Given the description of an element on the screen output the (x, y) to click on. 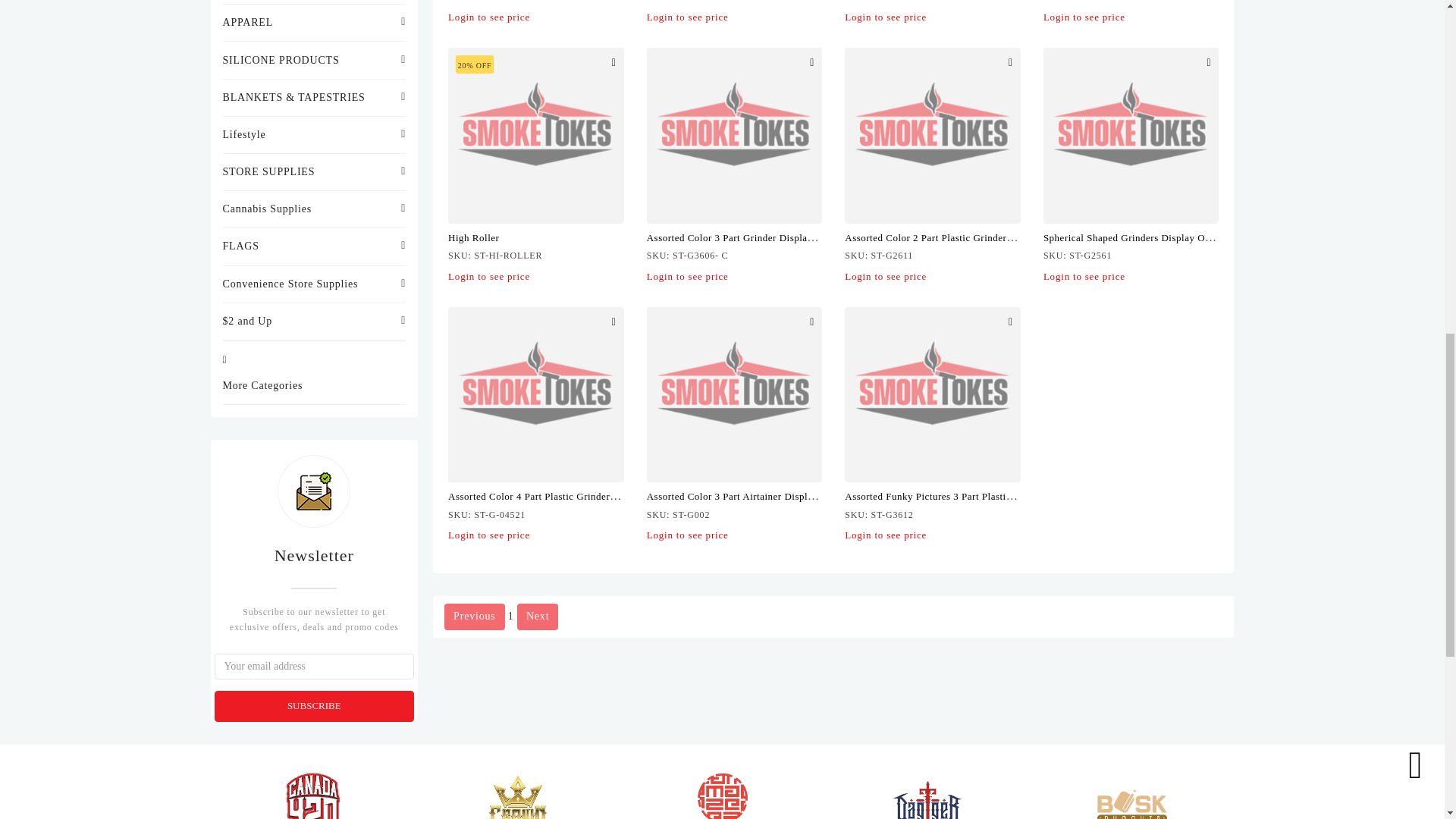
Assorted Color 3 Part Grinder Display Of 24 (734, 135)
Assorted Color 2 Part Plastic Grinder Display Of 24 (932, 135)
Spherical Shaped Grinders Display Of 12 (1131, 135)
High Roller (536, 135)
